Given the description of an element on the screen output the (x, y) to click on. 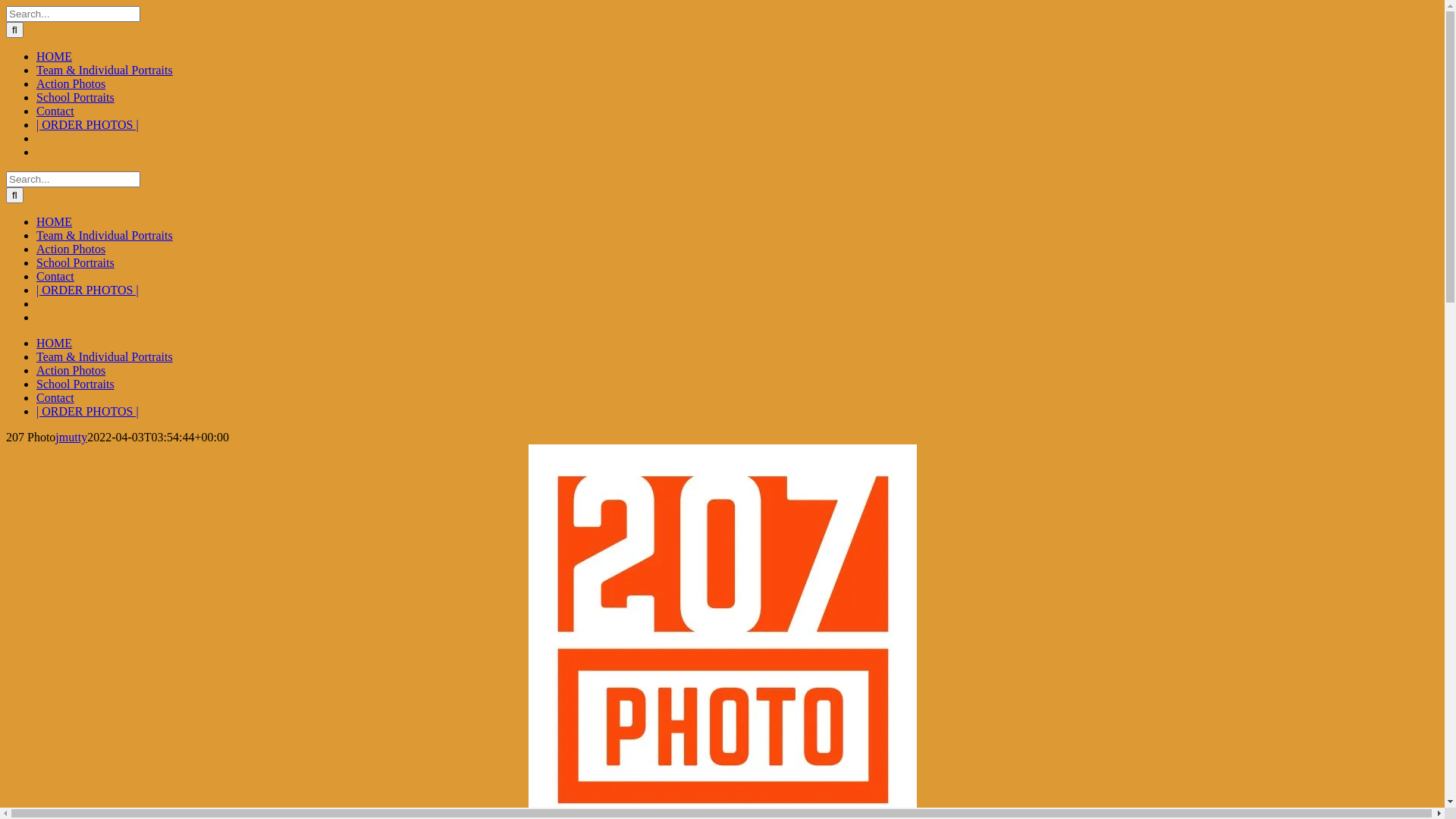
School Portraits Element type: text (75, 262)
School Portraits Element type: text (75, 97)
Contact Element type: text (55, 397)
School Portraits Element type: text (75, 383)
Team & Individual Portraits Element type: text (104, 235)
Action Photos Element type: text (70, 370)
Contact Element type: text (55, 275)
jmutty Element type: text (71, 436)
Action Photos Element type: text (70, 248)
| ORDER PHOTOS | Element type: text (87, 410)
HOME Element type: text (54, 342)
| ORDER PHOTOS | Element type: text (87, 124)
Team & Individual Portraits Element type: text (104, 356)
Contact Element type: text (55, 110)
HOME Element type: text (54, 56)
Skip to content Element type: text (5, 5)
HOME Element type: text (54, 221)
Team & Individual Portraits Element type: text (104, 69)
| ORDER PHOTOS | Element type: text (87, 289)
Action Photos Element type: text (70, 83)
